Given the description of an element on the screen output the (x, y) to click on. 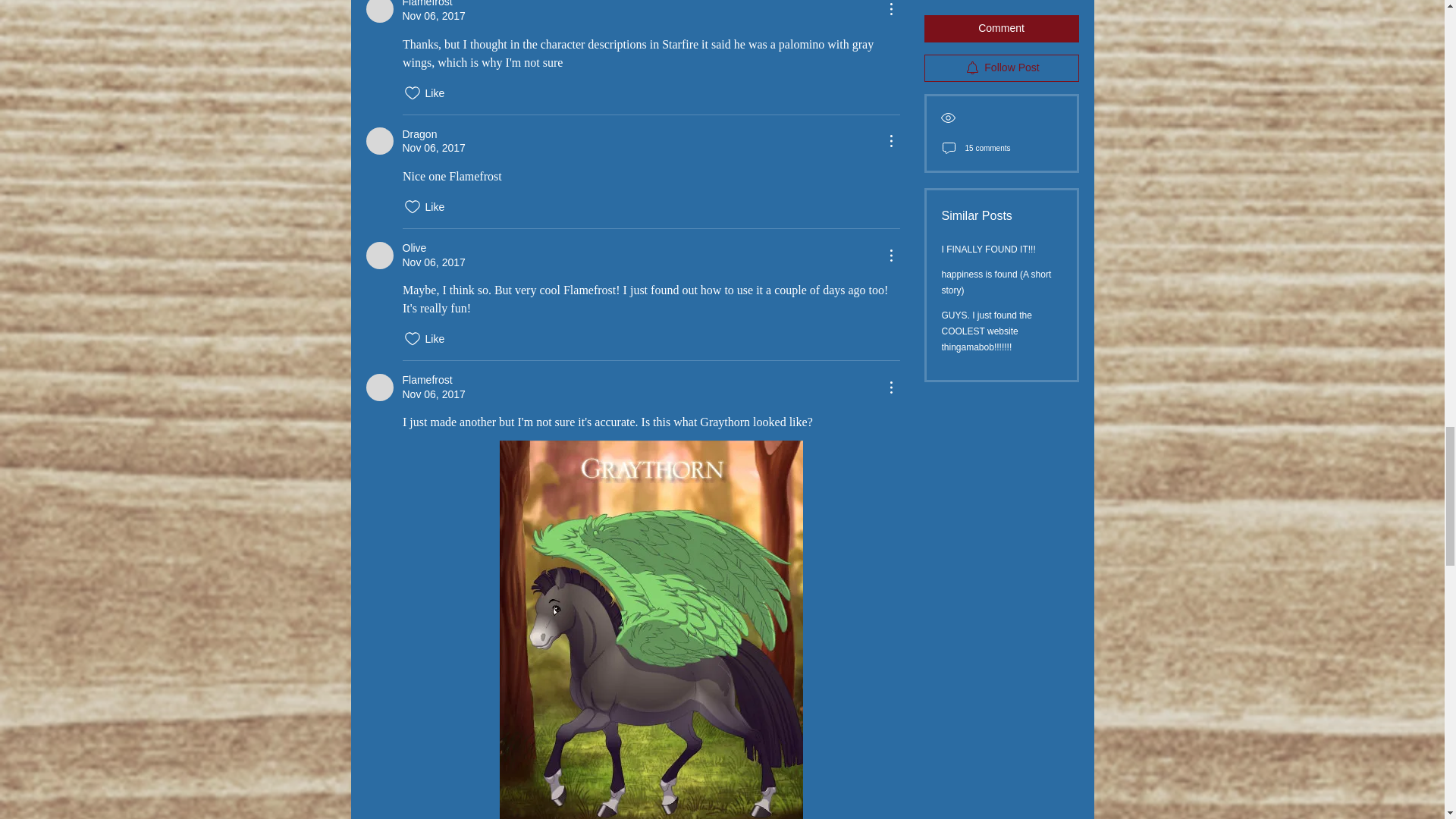
Dragon (379, 140)
Flamefrost (379, 11)
Flamefrost (379, 387)
Olive (379, 254)
